Given the description of an element on the screen output the (x, y) to click on. 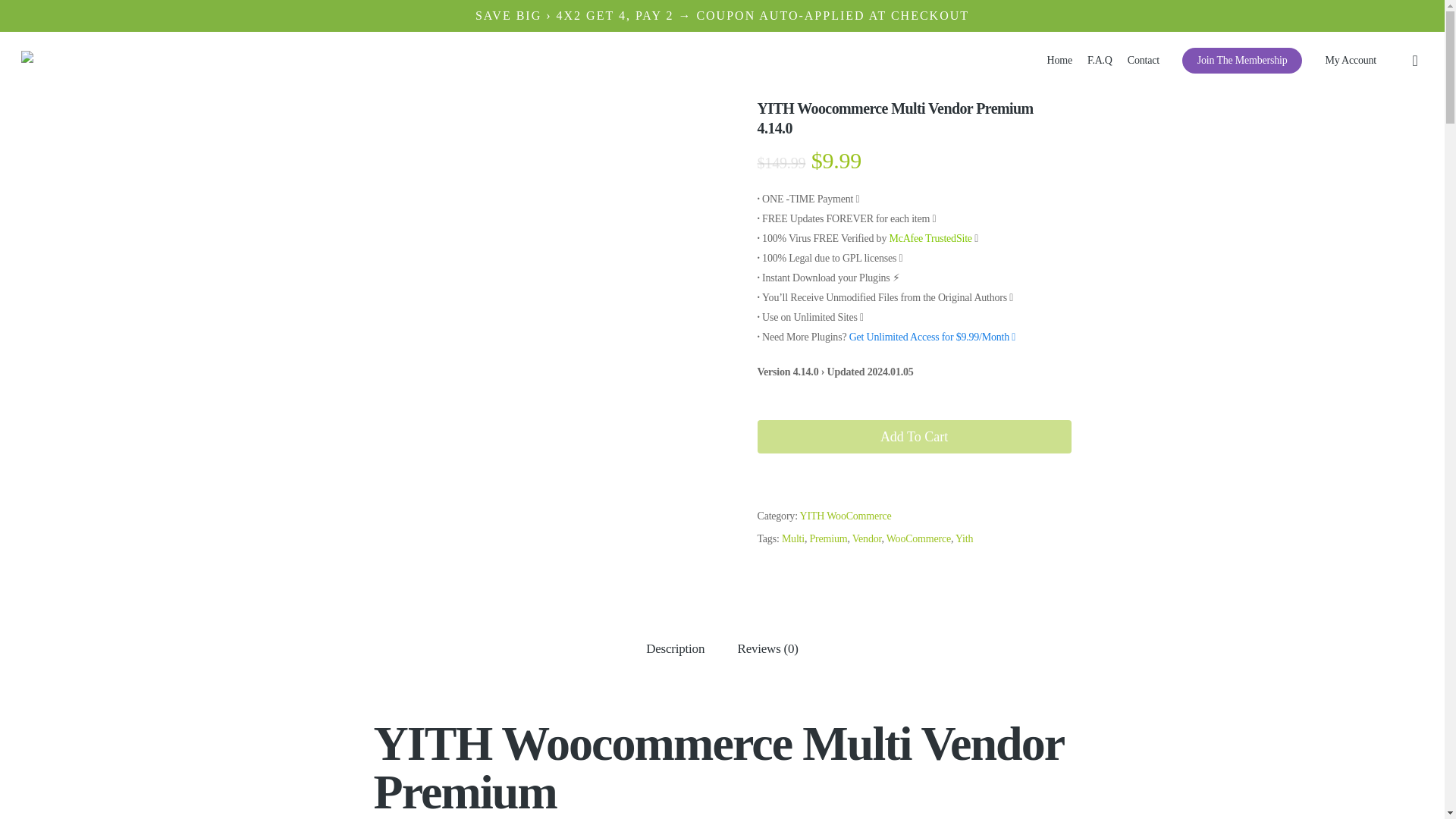
My Account (1349, 60)
McAfee TrustedSite (929, 238)
WooCommerce (918, 538)
F.A.Q (1099, 60)
YITH WooCommerce (845, 515)
Join The Membership (1242, 60)
Yith (963, 538)
Add To Cart (913, 436)
Home (1058, 60)
Contact (1142, 60)
